Given the description of an element on the screen output the (x, y) to click on. 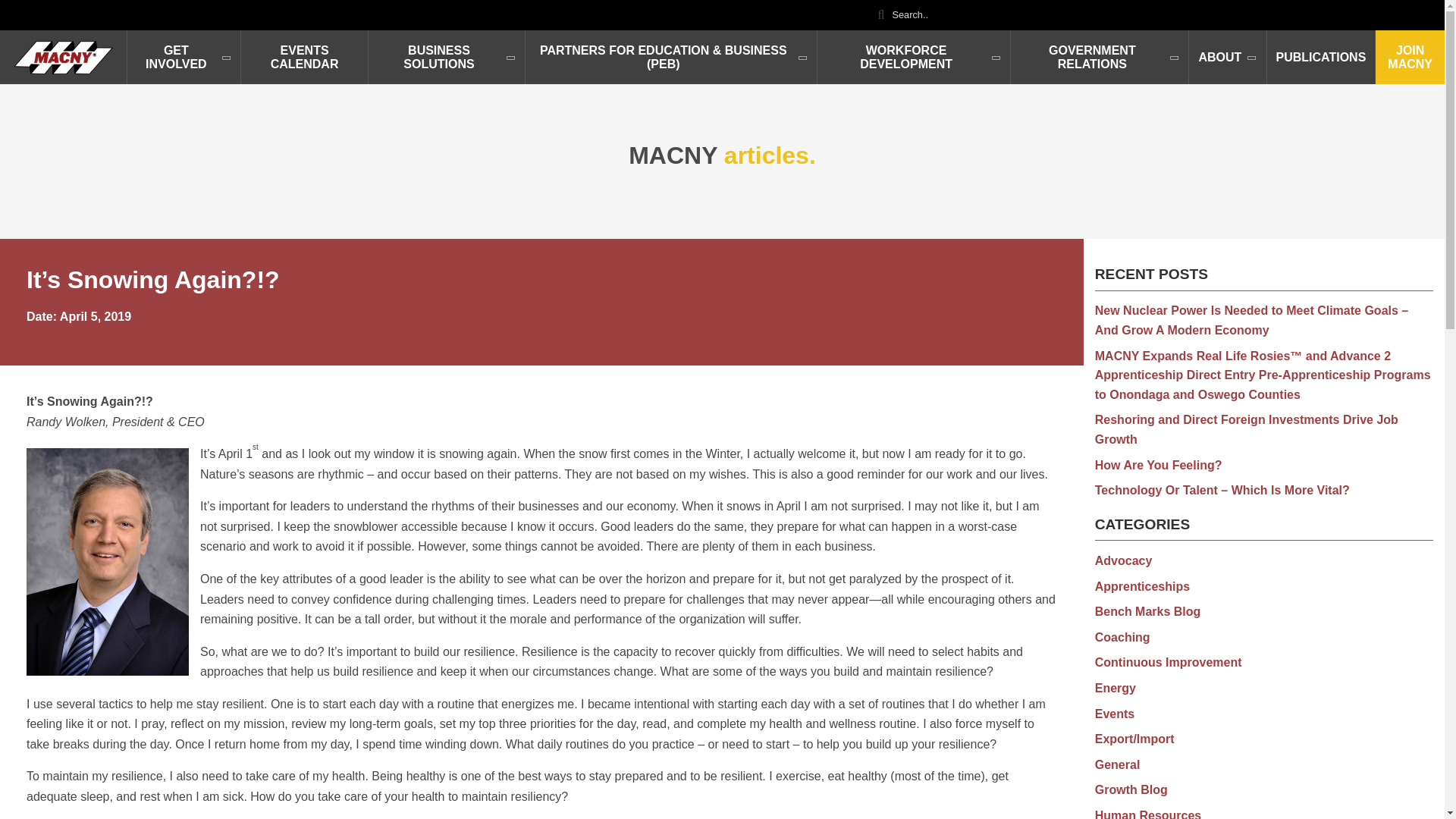
GET INVOLVED (183, 56)
ABOUT (1227, 56)
WORKFORCE DEVELOPMENT (913, 56)
BUSINESS SOLUTIONS (446, 56)
EVENTS CALENDAR (304, 56)
GOVERNMENT RELATIONS (1099, 56)
